Given the description of an element on the screen output the (x, y) to click on. 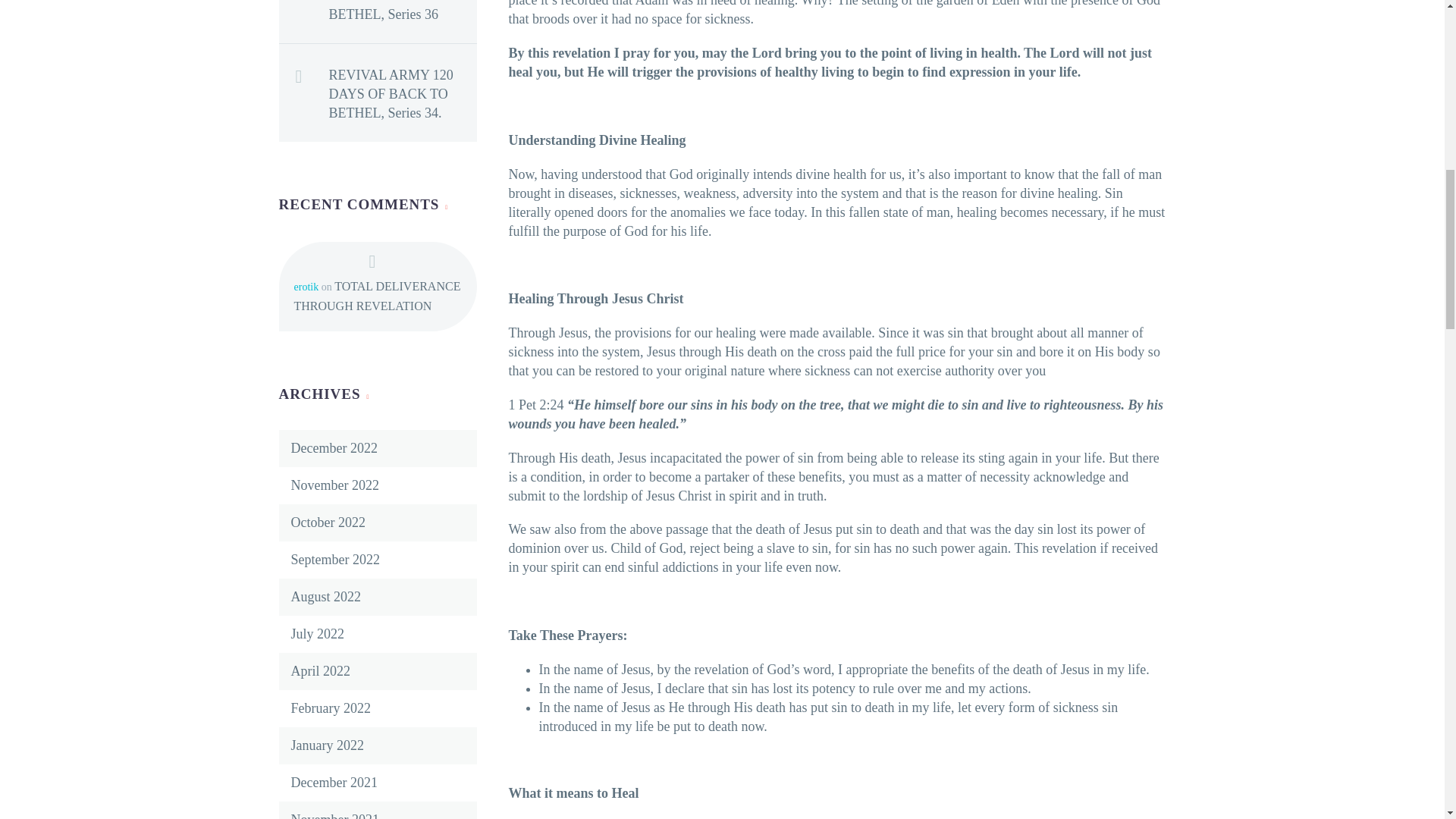
REVIVAL ARMY 120 DAYS OF BACK TO BETHEL, Series 36 (403, 12)
August 2022 (326, 596)
November 2022 (334, 485)
TOTAL DELIVERANCE THROUGH REVELATION (377, 296)
erotik (306, 286)
REVIVAL ARMY 120 DAYS OF BACK TO BETHEL, Series 34. (403, 90)
September 2022 (335, 559)
December 2022 (334, 447)
July 2022 (318, 633)
October 2022 (328, 522)
